Given the description of an element on the screen output the (x, y) to click on. 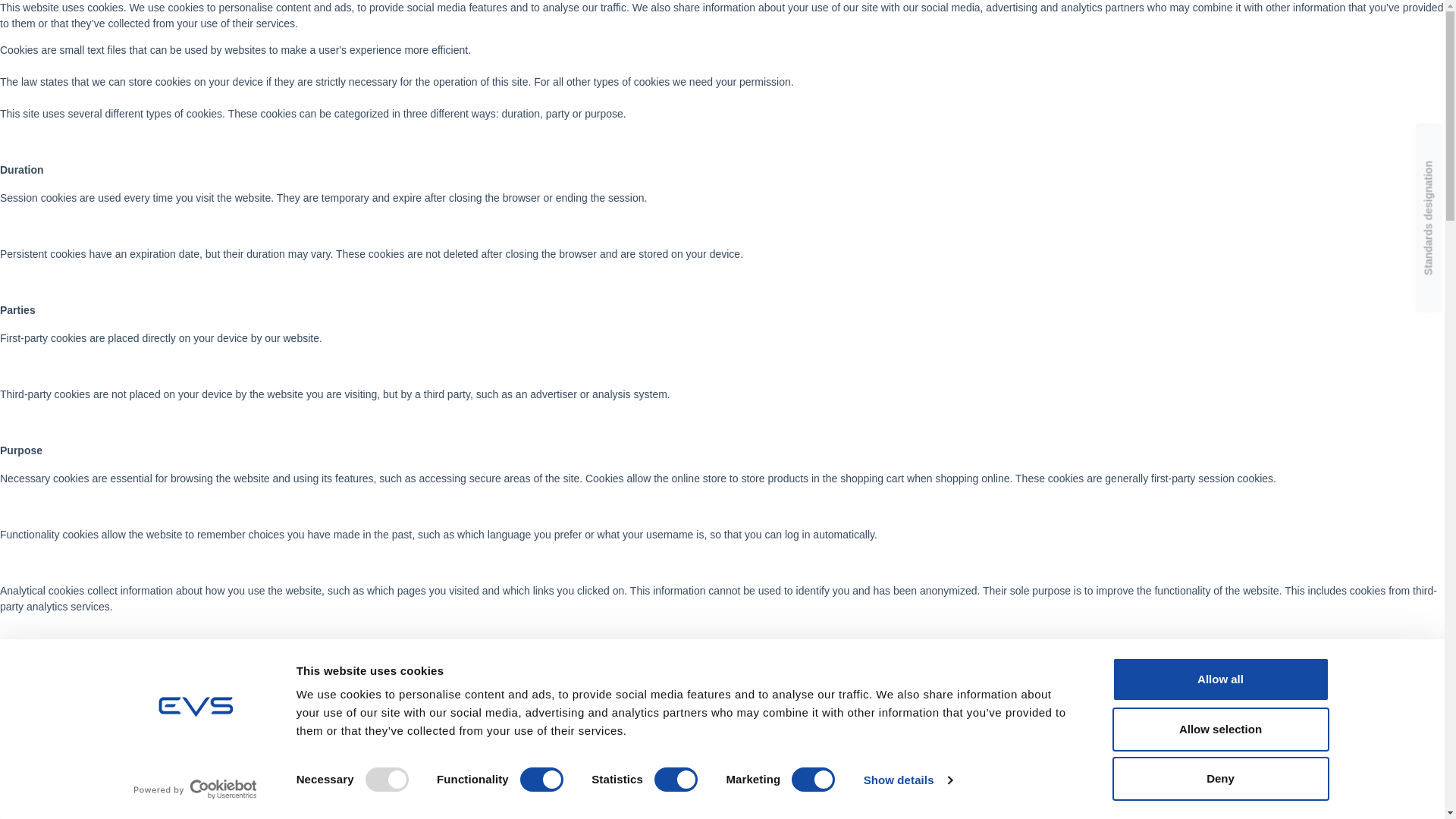
Show details (907, 780)
Deny (1219, 778)
Allow selection (1219, 728)
